Given the description of an element on the screen output the (x, y) to click on. 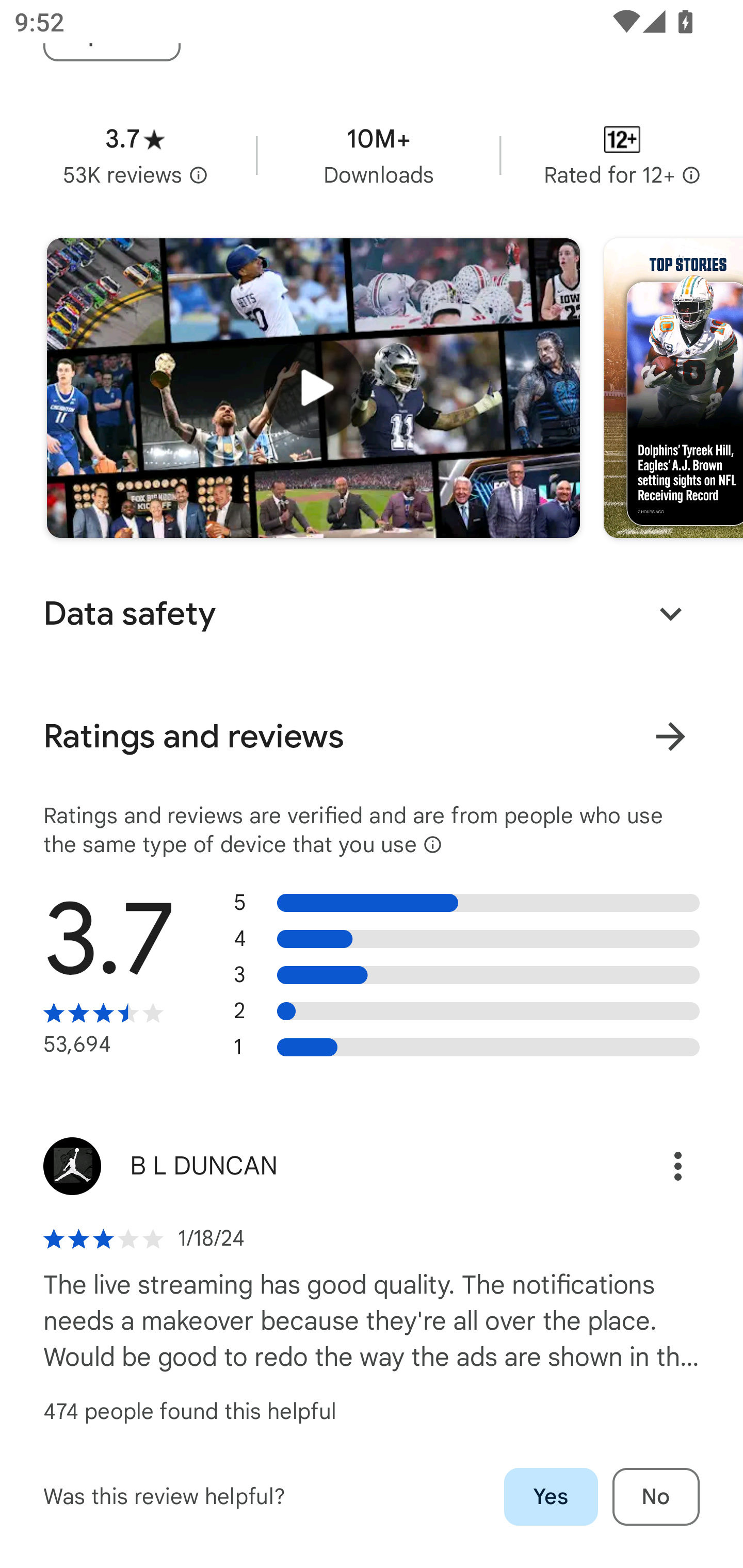
Average rating 3.7 stars in 53 thousand reviews (135, 155)
Content rating Rated for 12+ (622, 155)
Play trailer for "FOX Sports: Watch Live" (313, 387)
Data safety Expand (371, 613)
Expand (670, 613)
Ratings and reviews View all ratings and reviews (371, 736)
View all ratings and reviews (670, 736)
Options (655, 1165)
Yes (550, 1496)
No (655, 1496)
